Given the description of an element on the screen output the (x, y) to click on. 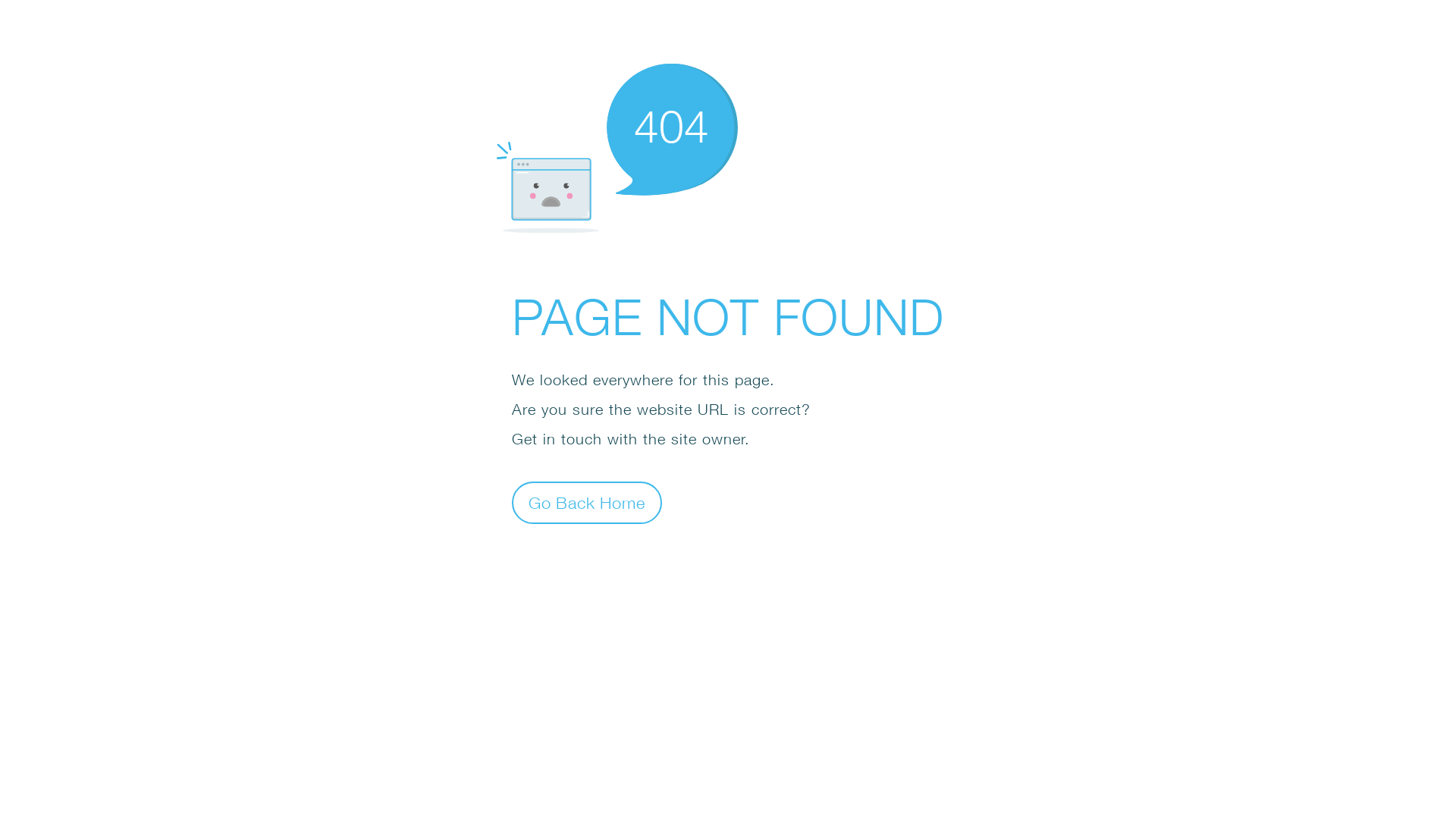
Go Back Home Element type: text (586, 502)
